Given the description of an element on the screen output the (x, y) to click on. 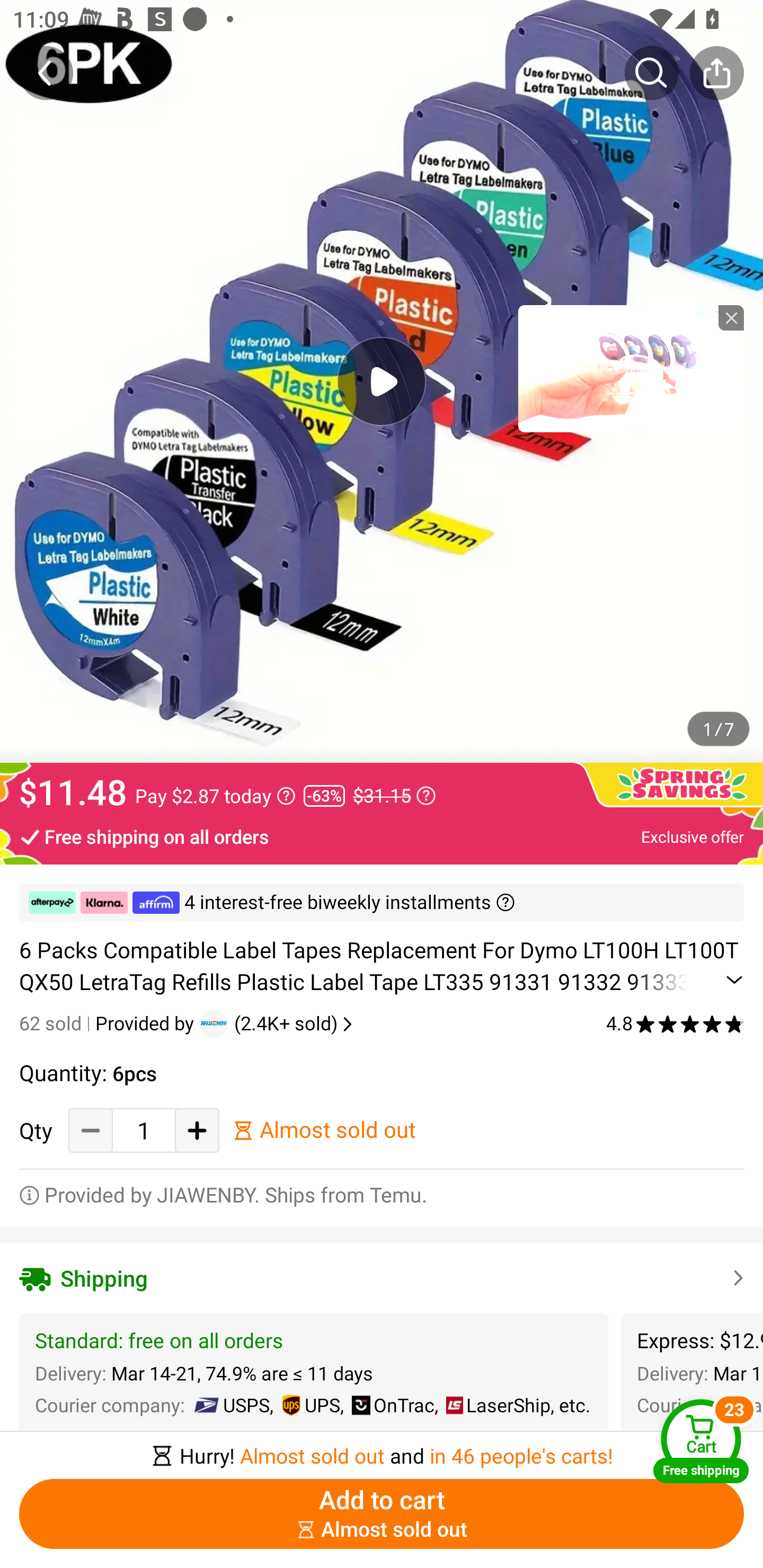
Back (46, 72)
Share (716, 72)
tronplayer_view (631, 368)
Pay $2.87 today   (215, 795)
Free shipping on all orders Exclusive offer (381, 836)
￼ ￼ ￼ 4 interest-free biweekly installments ￼ (381, 902)
4.8 (674, 1023)
Decrease Quantity Button (90, 1130)
1 (143, 1130)
Add Quantity button (196, 1130)
Shipping (381, 1278)
Cart Free shipping Cart (701, 1440)
￼￼Hurry! Almost sold out and in 46 people's carts! (381, 1450)
Add to cart ￼￼Almost sold out (381, 1513)
